Given the description of an element on the screen output the (x, y) to click on. 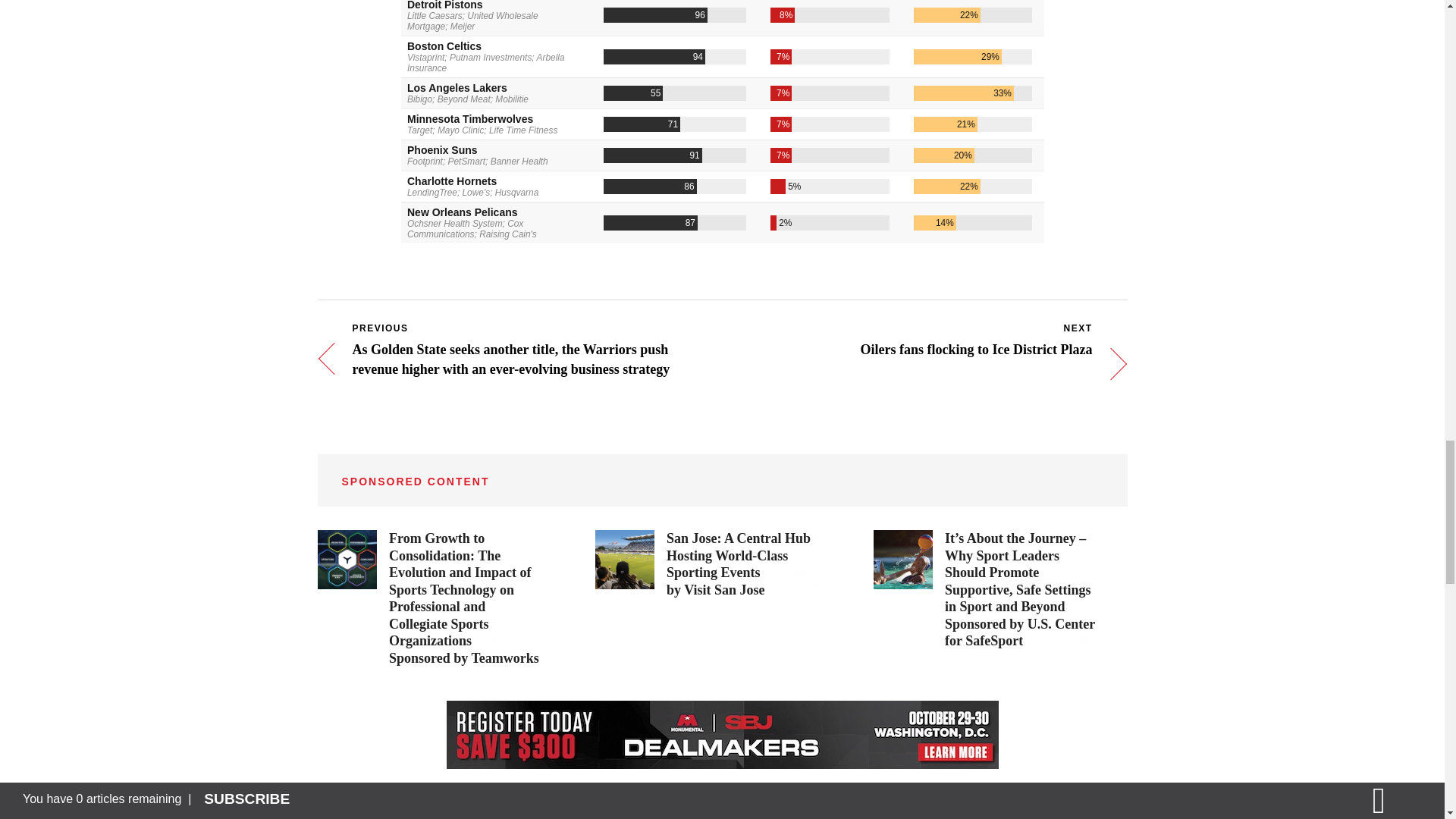
3rd party ad content (721, 735)
3rd party ad content (986, 590)
3rd party ad content (430, 598)
3rd party ad content (708, 564)
